Given the description of an element on the screen output the (x, y) to click on. 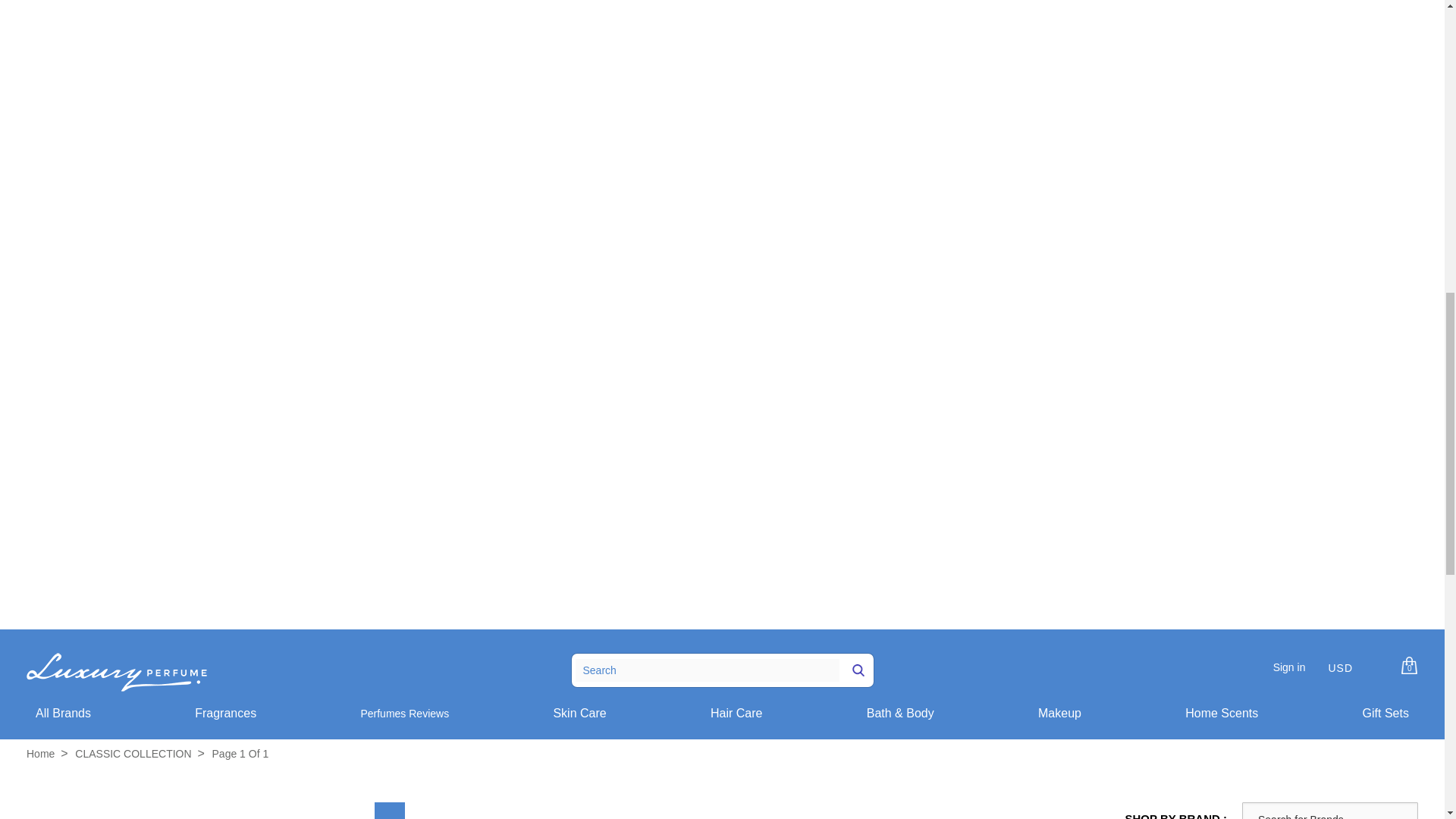
Hair Care (735, 713)
Type in a name (1329, 810)
Skin Care (579, 713)
Fragrances (225, 713)
Makeup (1059, 713)
USD (1341, 673)
All Brands (62, 713)
Grid (389, 810)
Luxury Perfumes (40, 753)
CLASSIC COLLECTION (132, 753)
